Given the description of an element on the screen output the (x, y) to click on. 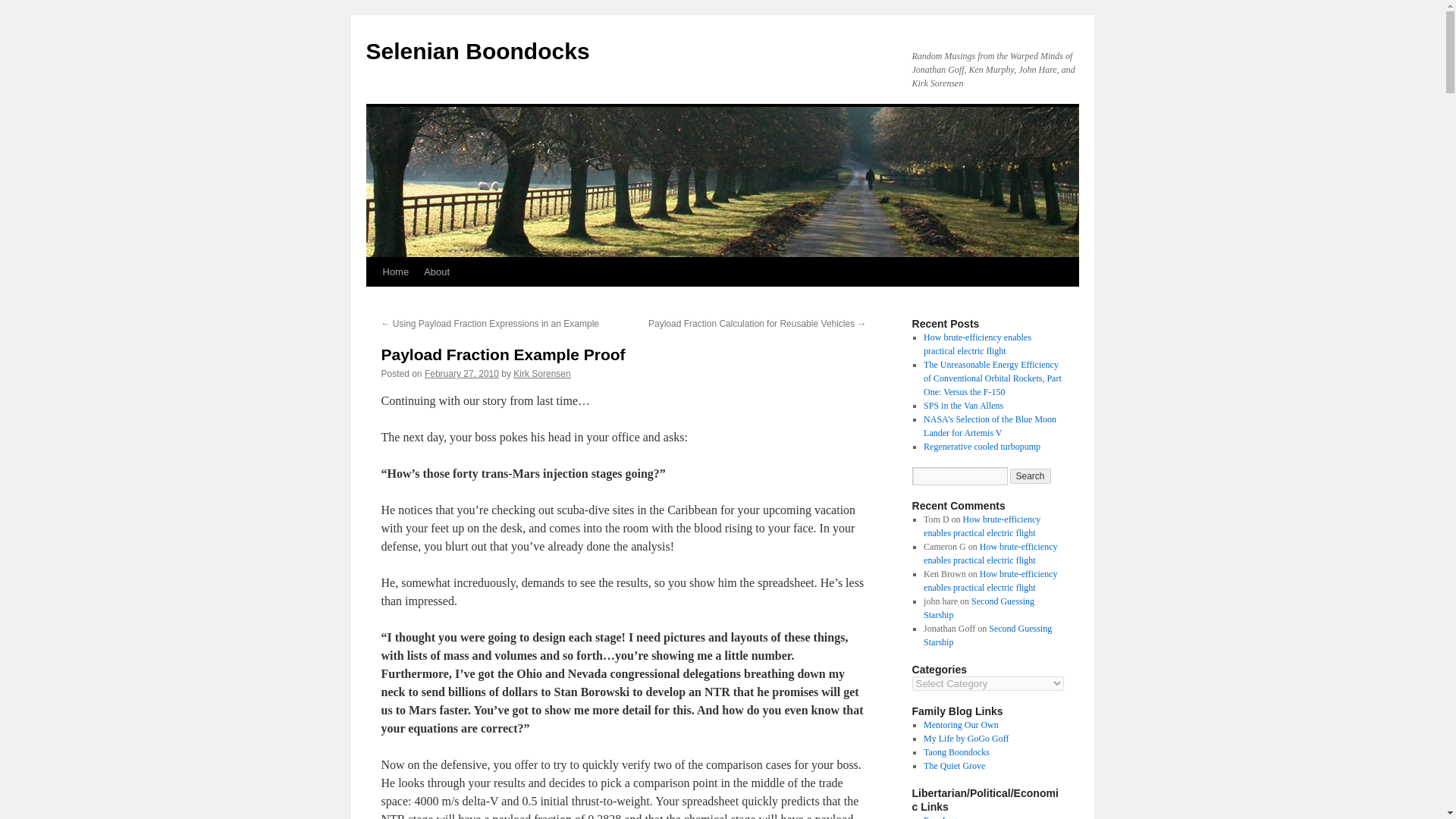
Kirk Sorensen (541, 373)
View all posts by Kirk Sorensen (541, 373)
February 27, 2010 (462, 373)
10:35 am (462, 373)
Selenian Boondocks (477, 50)
Arnold Kling, Bryan Caplan, and David Henderson on economics (939, 816)
Selenian Boondocks (477, 50)
Search (1030, 476)
Home (395, 271)
About (436, 271)
